Given the description of an element on the screen output the (x, y) to click on. 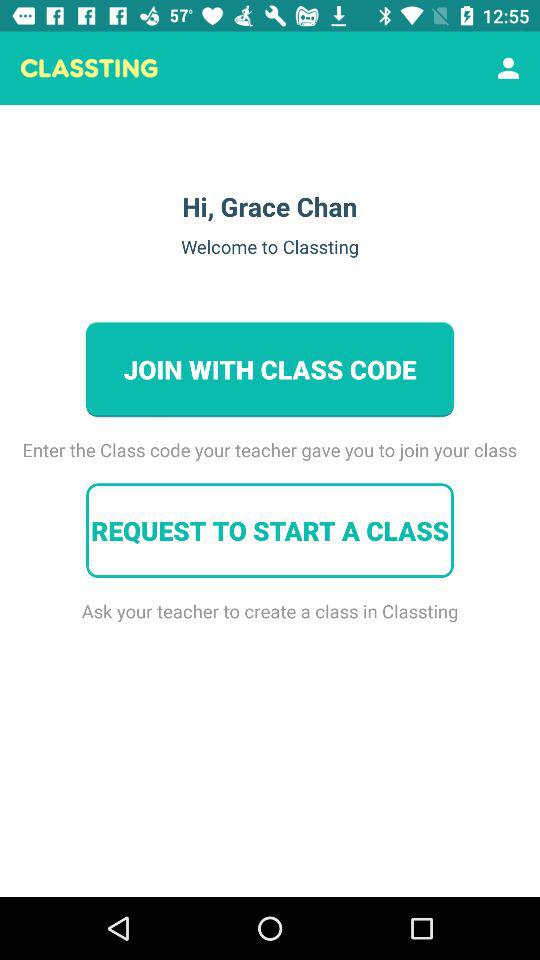
press request to start icon (269, 530)
